Given the description of an element on the screen output the (x, y) to click on. 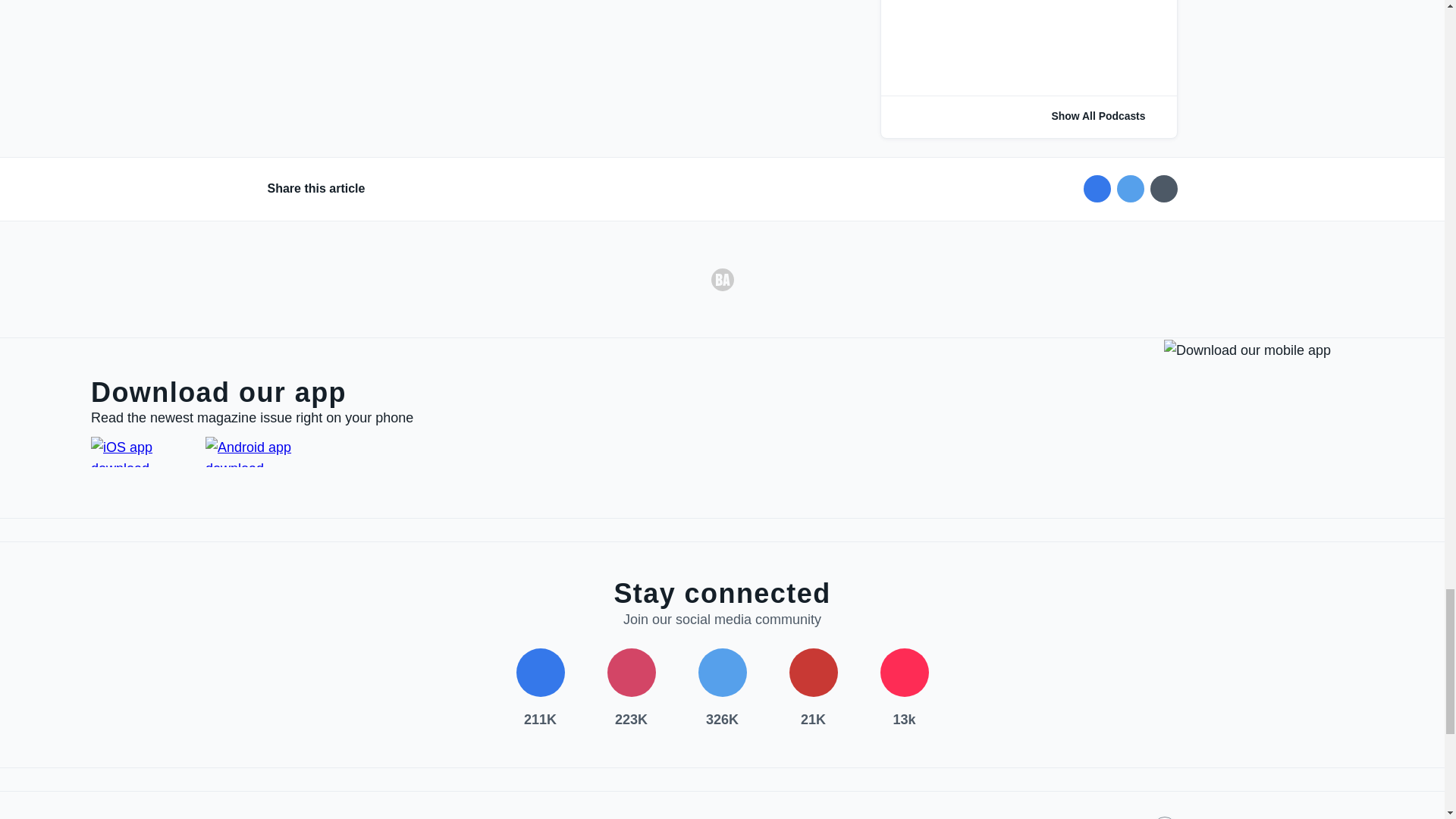
Share via email (1163, 188)
Share on Facebook (1096, 188)
Share on Twitter (1129, 188)
